Given the description of an element on the screen output the (x, y) to click on. 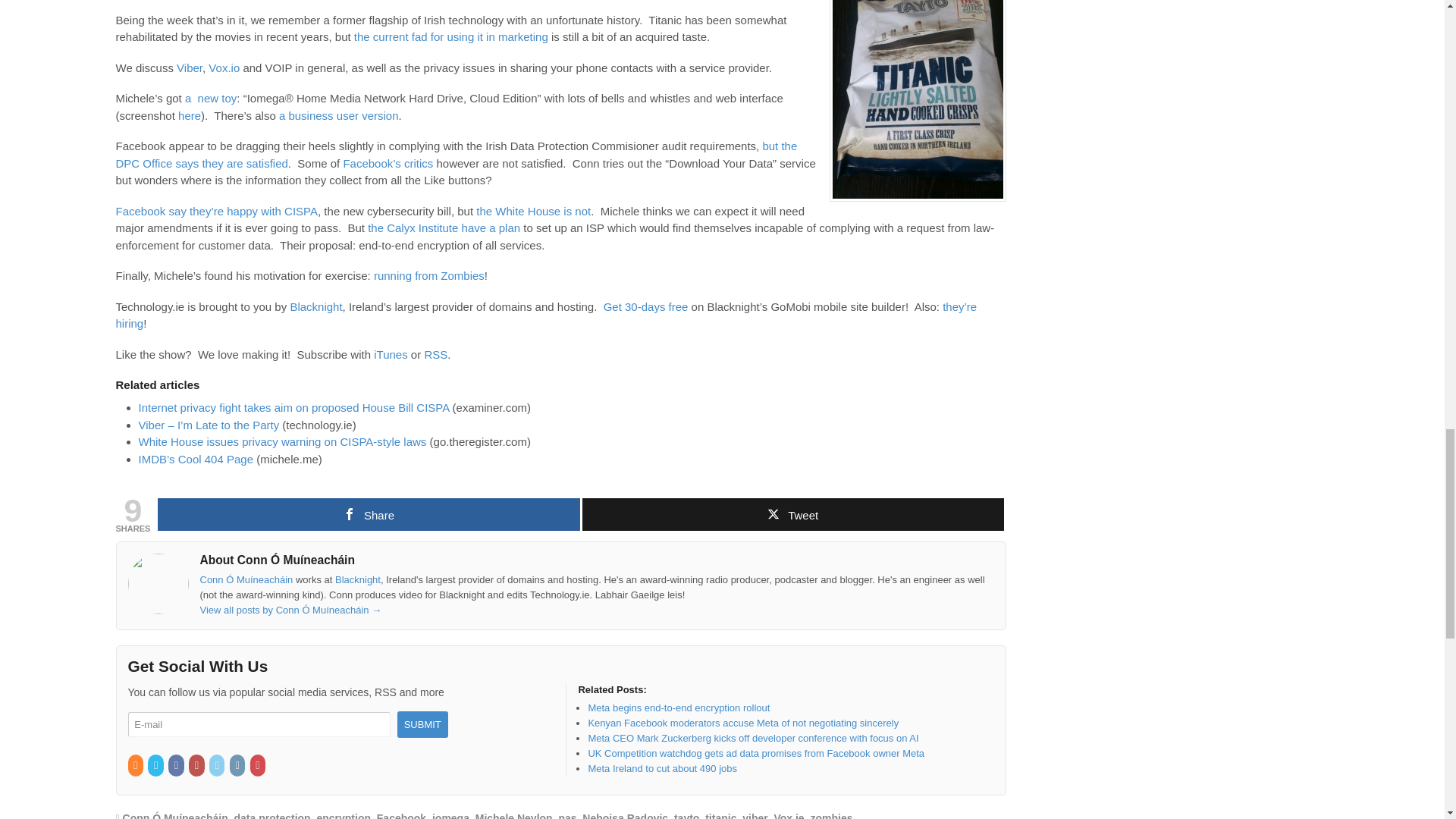
RSS (136, 765)
E-mail (259, 724)
Vox.io (224, 67)
a business user version (338, 115)
Facebook (177, 765)
LinkedIn (218, 765)
Twitter (156, 765)
the Calyx Institute have a plan (443, 227)
here (188, 115)
Instagram (238, 765)
a  new toy (209, 97)
the White House is not (533, 210)
but the DPC Office says they are satisfied (455, 154)
Viber (189, 67)
YouTube (197, 765)
